Given the description of an element on the screen output the (x, y) to click on. 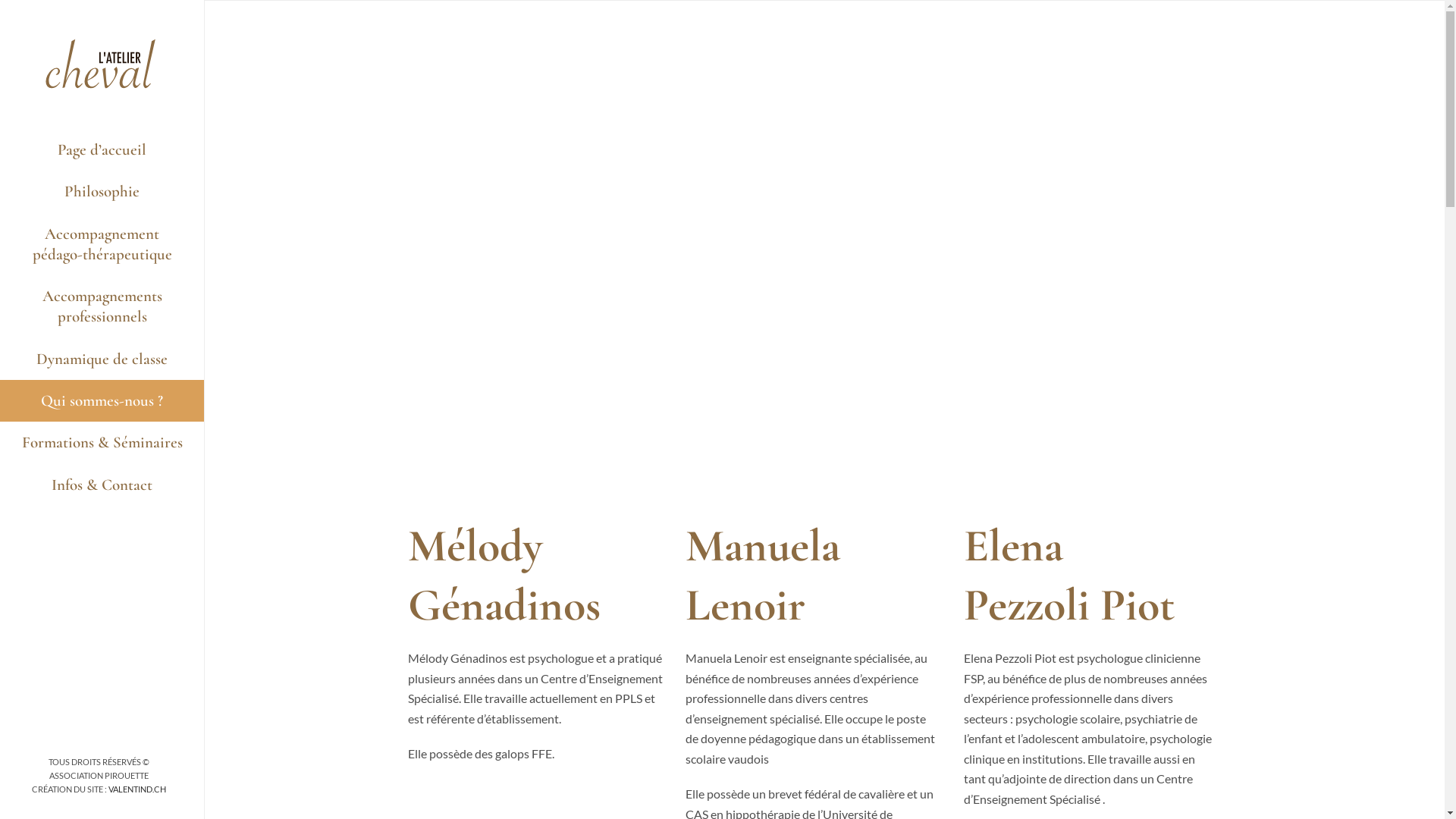
Infos & Contact Element type: text (101, 484)
Philosophie Element type: text (101, 191)
VALENTIND.CH Element type: text (136, 788)
Accompagnements professionnels Element type: text (101, 306)
Qui sommes-nous ? Element type: text (101, 400)
Dynamique de classe Element type: text (101, 358)
L'Atelier Cheval Element type: hover (101, 64)
